Given the description of an element on the screen output the (x, y) to click on. 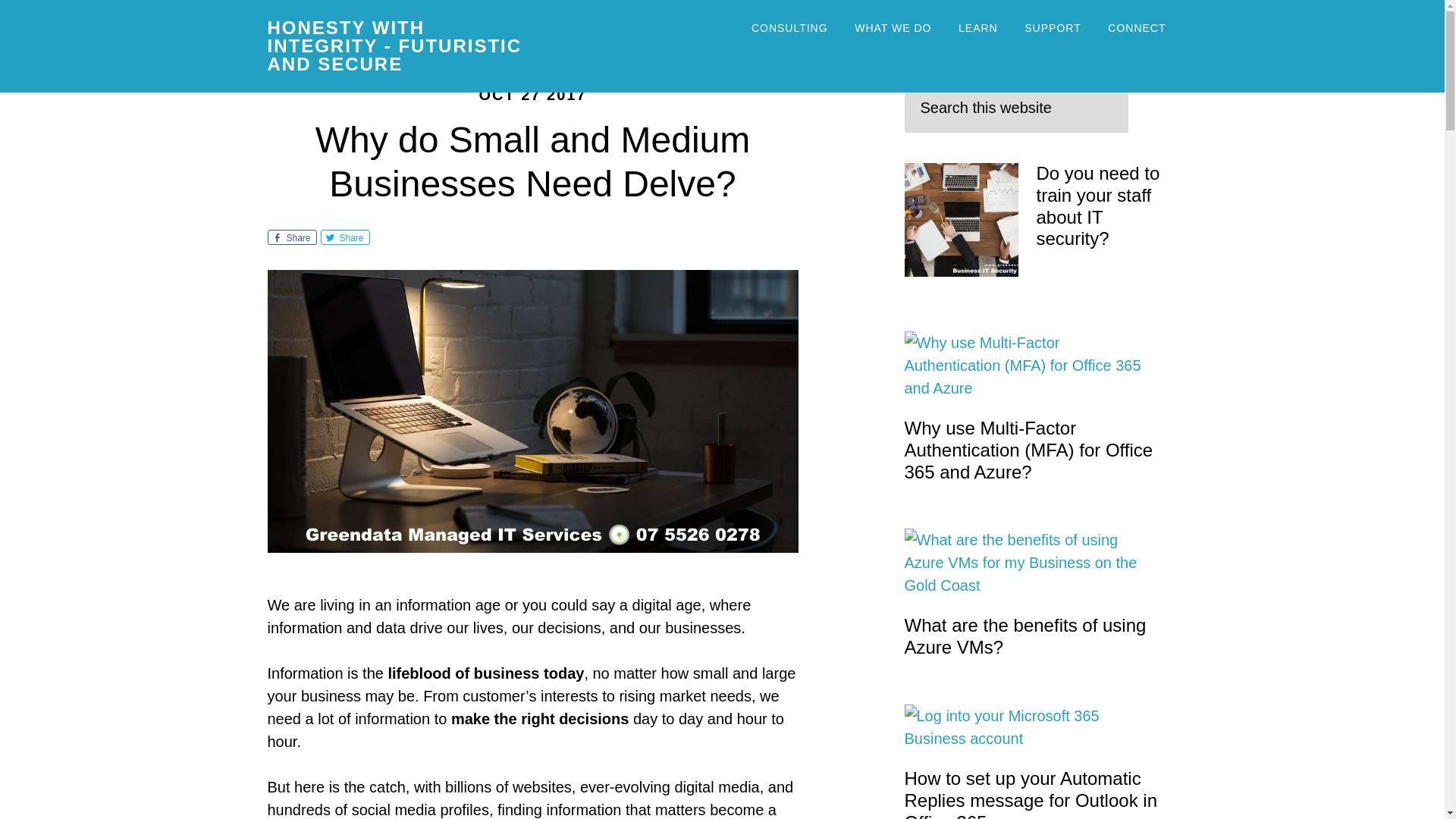
LEARN (978, 28)
CONSULTING (789, 28)
Share (344, 237)
WHAT WE DO (892, 28)
Share (290, 237)
HONESTY WITH INTEGRITY - FUTURISTIC AND SECURE (393, 45)
SUPPORT (1052, 28)
CONNECT (1136, 28)
